Given the description of an element on the screen output the (x, y) to click on. 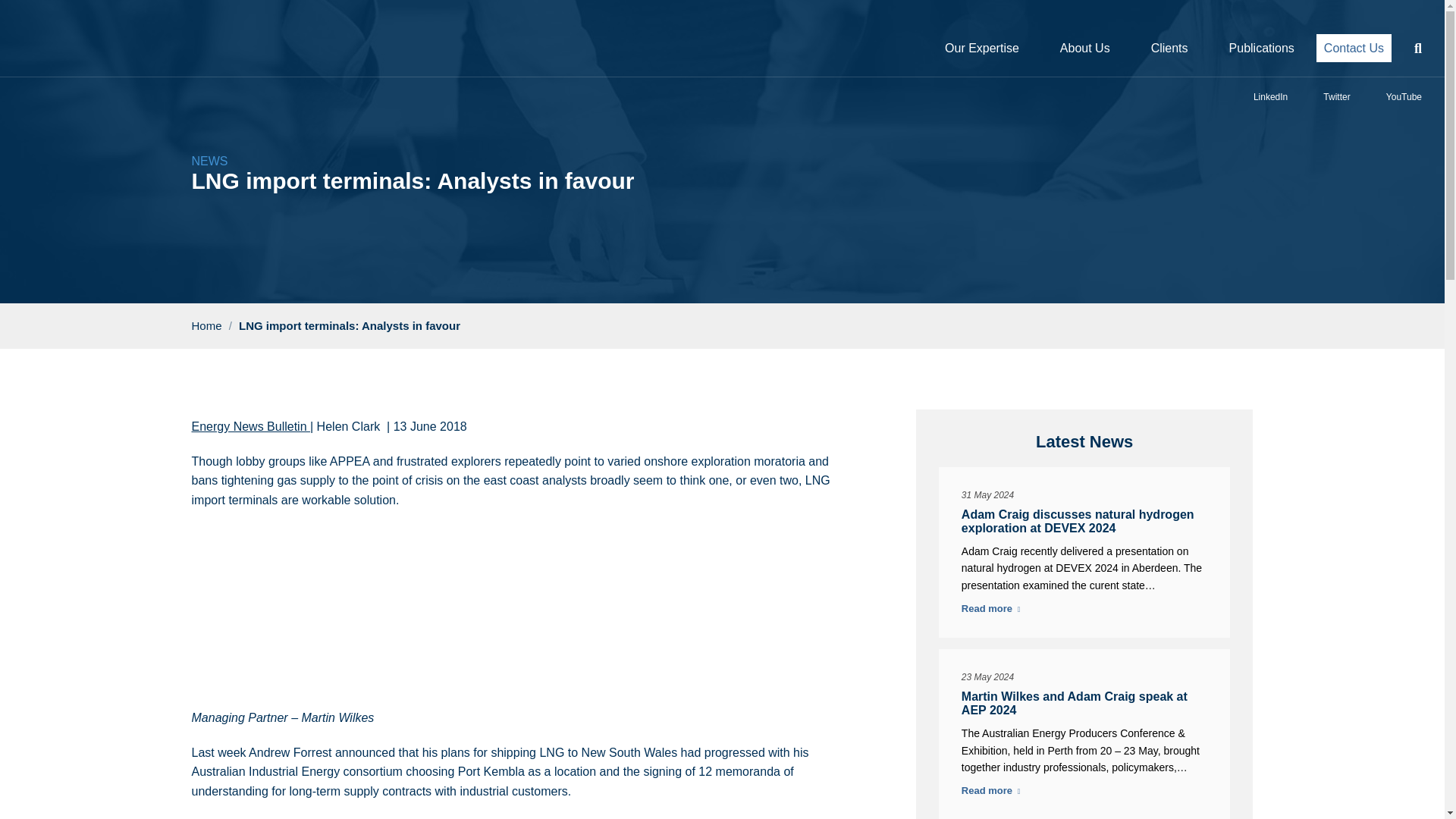
Clients (1169, 47)
About Us (1085, 47)
Contact Us (1353, 48)
RISC (79, 53)
Publications (1261, 47)
Our Expertise (982, 47)
